Given the description of an element on the screen output the (x, y) to click on. 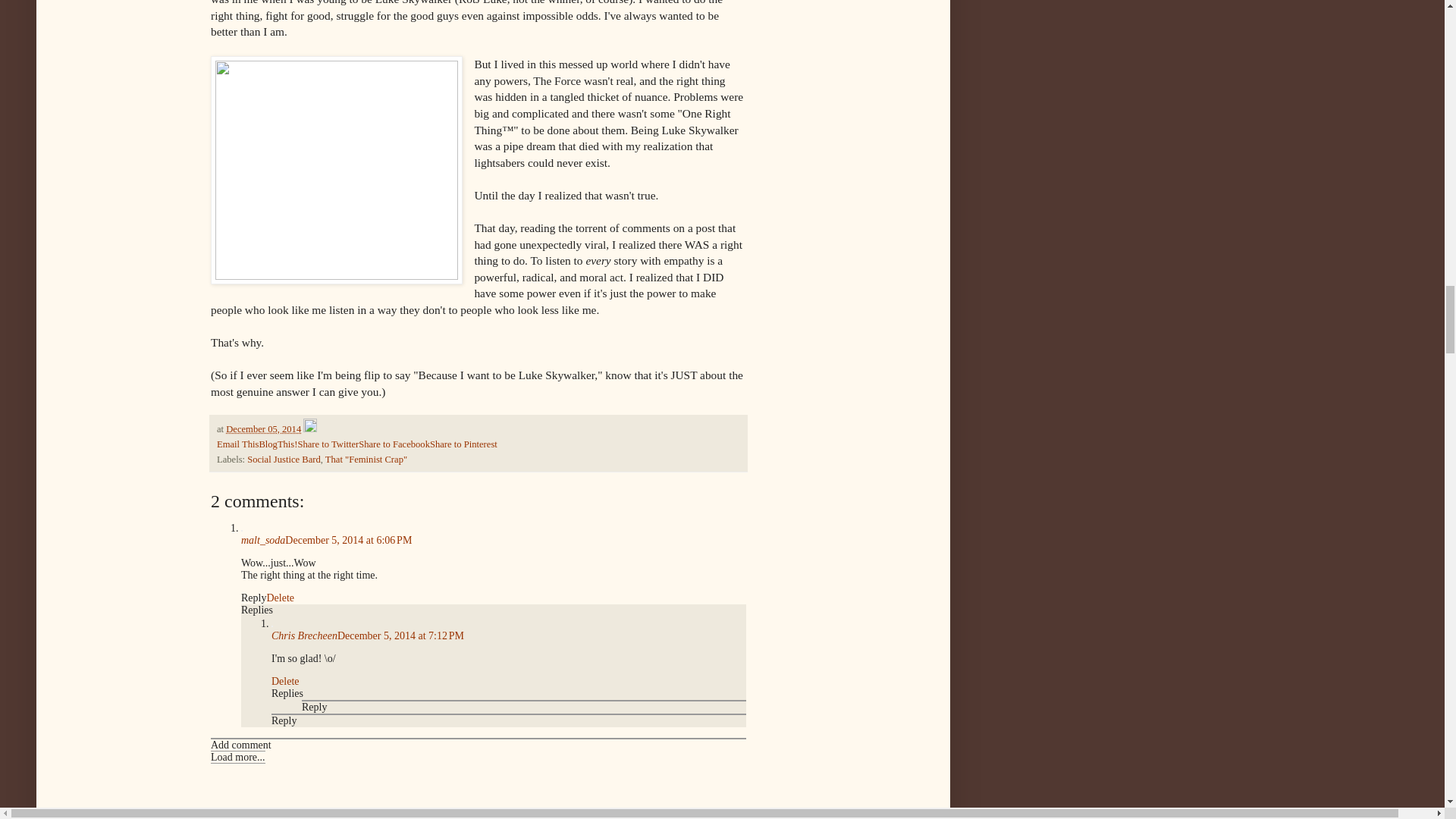
Social Justice Bard (283, 459)
December 05, 2014 (263, 429)
BlogThis! (278, 443)
Edit Post (309, 429)
That "Feminist Crap" (365, 459)
Share to Twitter (327, 443)
Reply (283, 720)
Delete (280, 597)
Share to Facebook (393, 443)
Email This (237, 443)
Replies (286, 693)
Email This (237, 443)
Share to Twitter (327, 443)
